Given the description of an element on the screen output the (x, y) to click on. 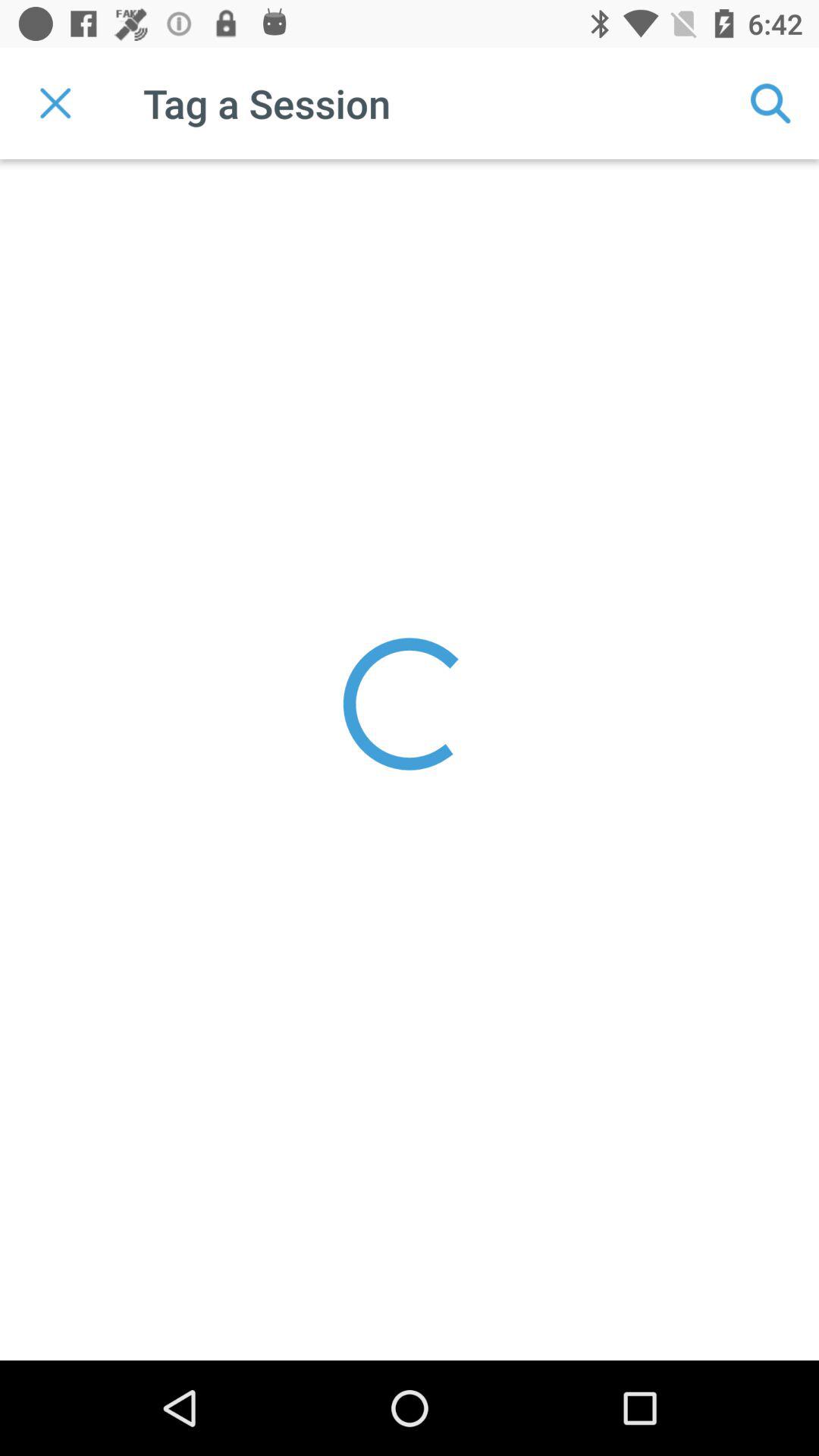
turn on item next to the tag a session icon (771, 103)
